Given the description of an element on the screen output the (x, y) to click on. 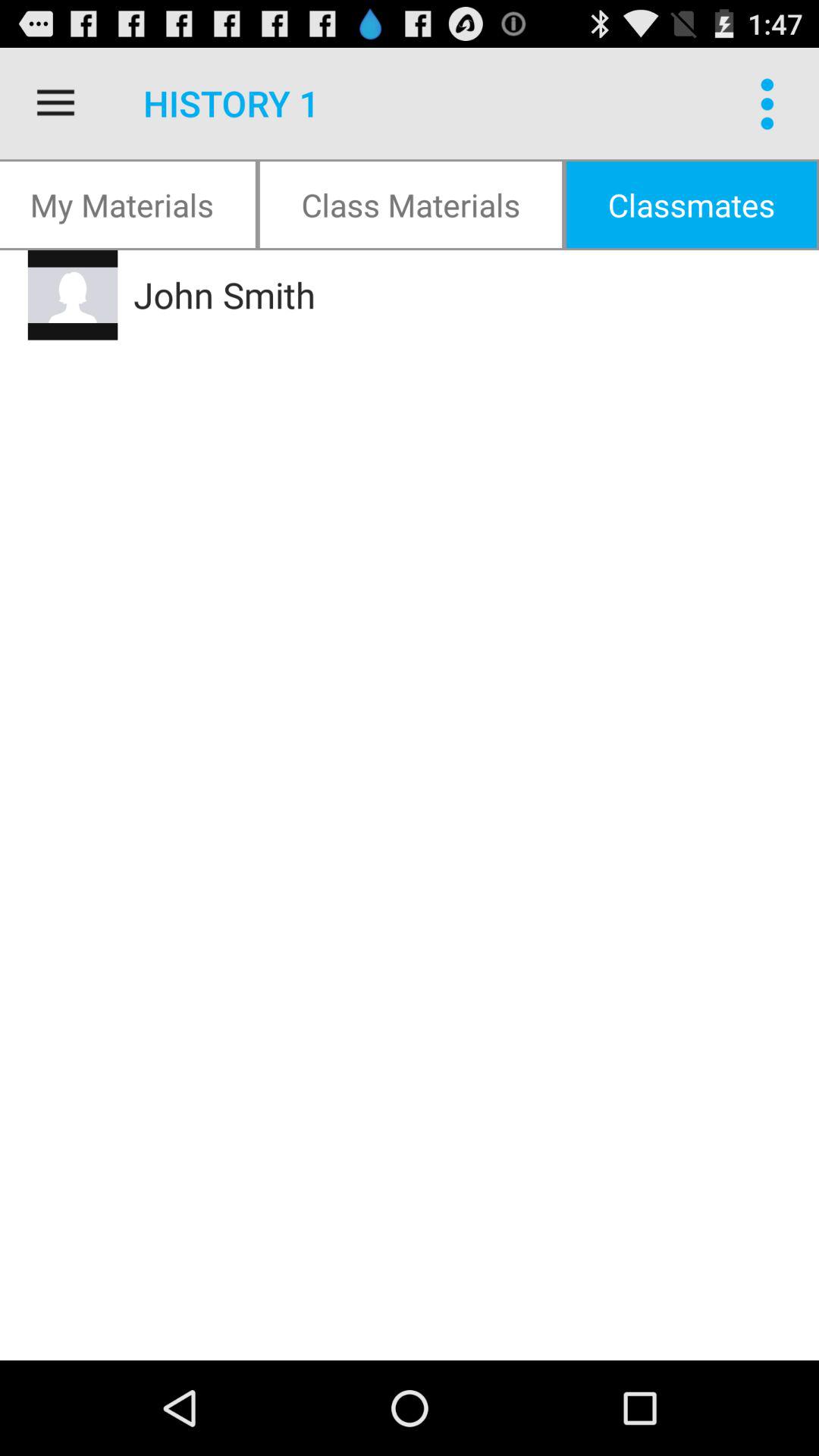
press the john smith icon (427, 295)
